Given the description of an element on the screen output the (x, y) to click on. 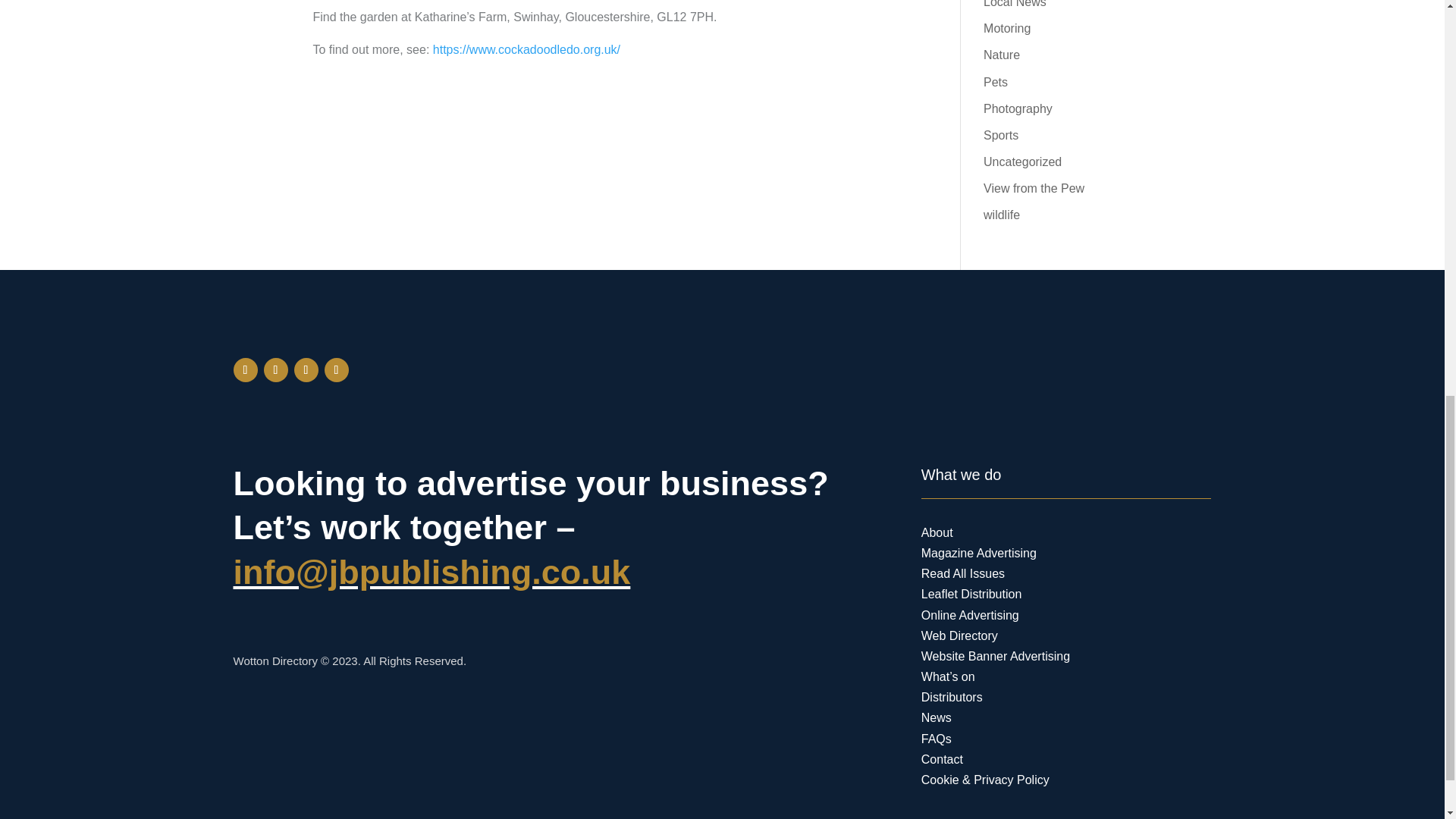
Follow on X (275, 369)
Follow on LinkedIn (336, 369)
Follow on Facebook (244, 369)
Follow on Instagram (306, 369)
